Given the description of an element on the screen output the (x, y) to click on. 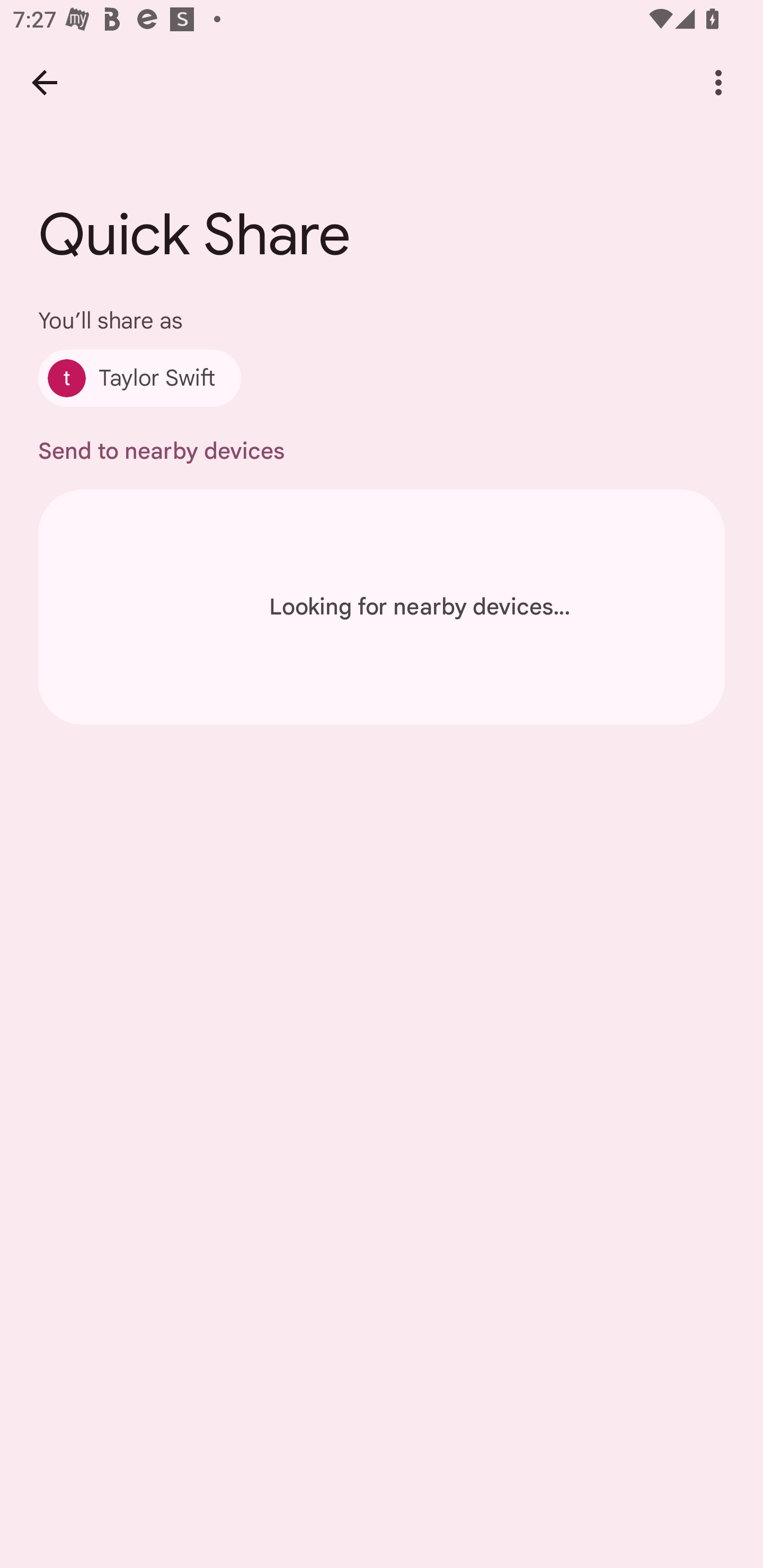
Back (44, 81)
More (718, 81)
Taylor Swift (139, 378)
